Given the description of an element on the screen output the (x, y) to click on. 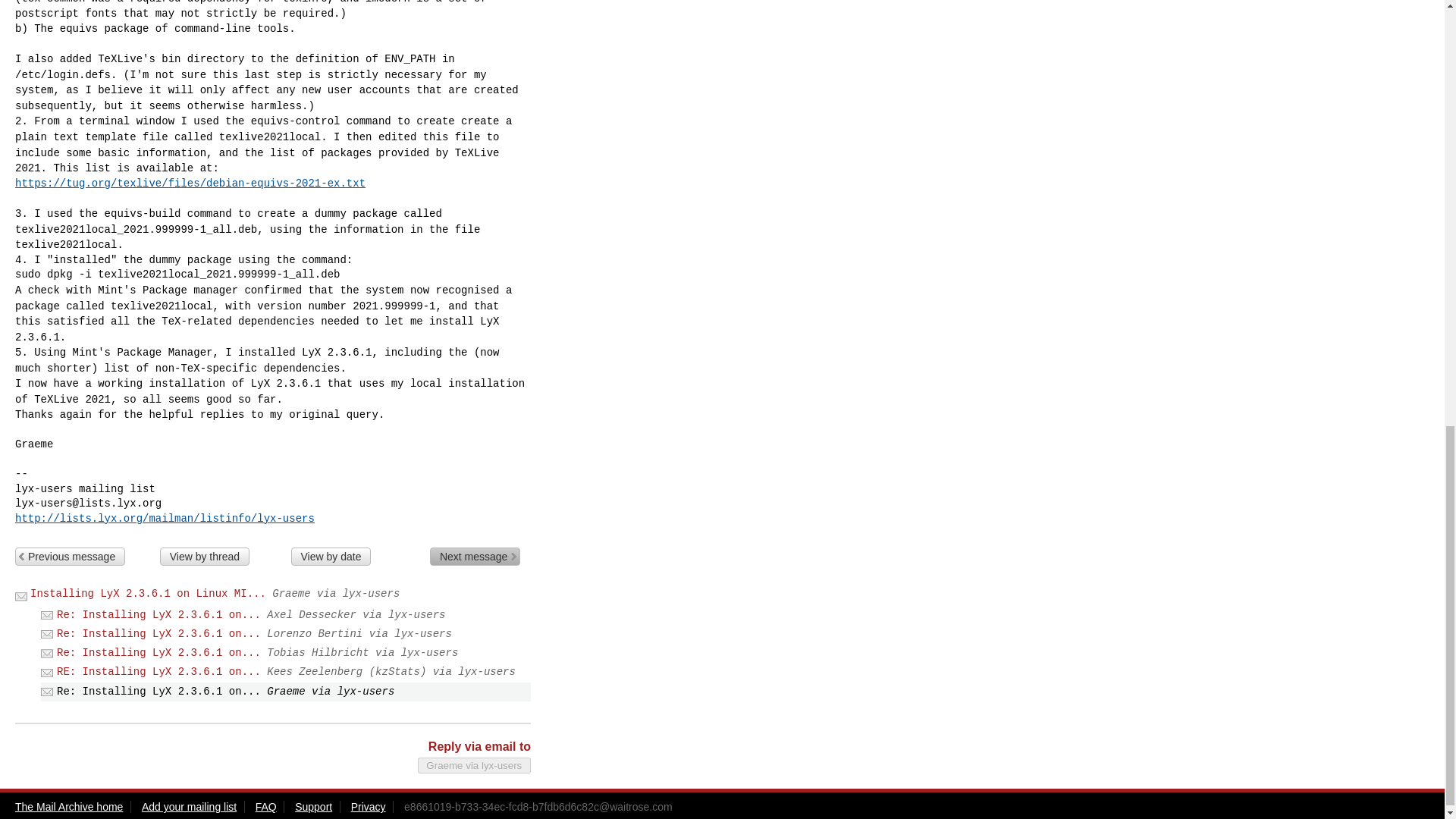
FAQ (266, 806)
Re: Installing LyX 2.3.6.1 on... (158, 614)
Add your mailing list (188, 806)
Support (313, 806)
The Mail Archive home (68, 806)
Previous message (69, 556)
RE: Installing LyX 2.3.6.1 on... (158, 671)
Re: Installing LyX 2.3.6.1 on... (158, 653)
Re: Installing LyX 2.3.6.1 on... (158, 633)
View by thread (204, 556)
 Graeme via lyx-users  (474, 765)
Privacy (367, 806)
View by date (331, 556)
Next message (474, 556)
Installing LyX 2.3.6.1 on Linux MI... (148, 593)
